Given the description of an element on the screen output the (x, y) to click on. 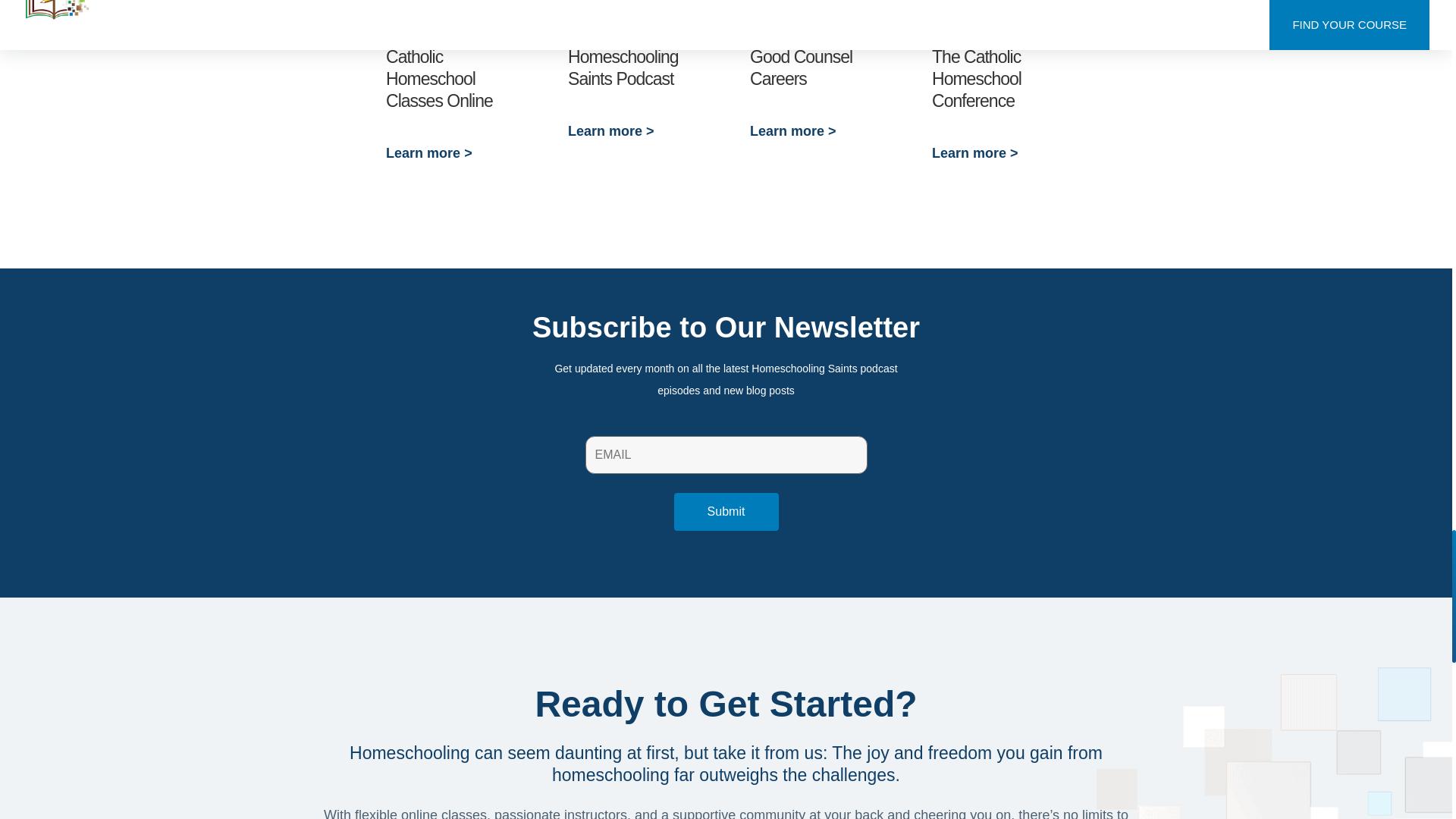
Submit (724, 511)
